Given the description of an element on the screen output the (x, y) to click on. 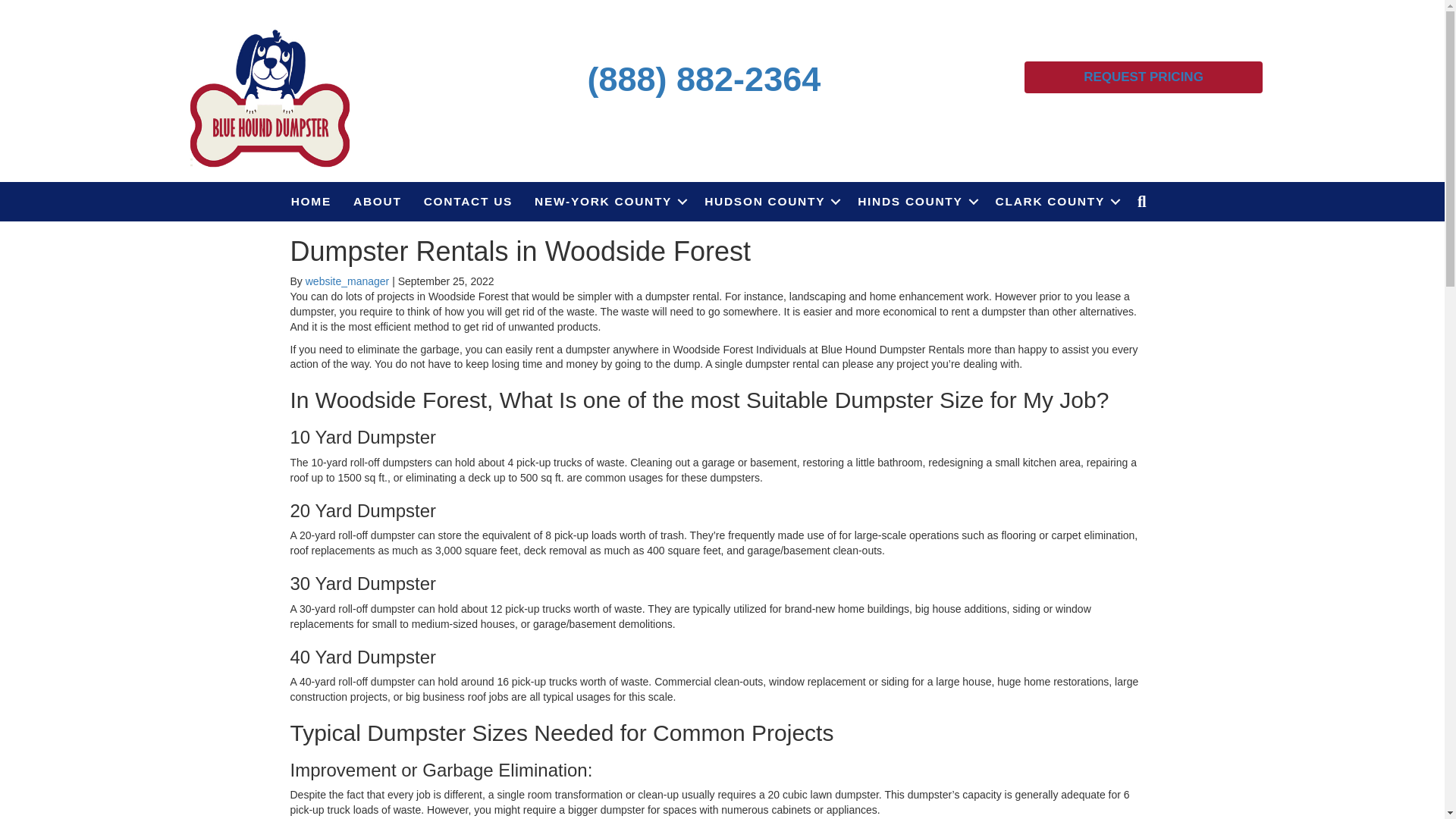
HUDSON COUNTY (769, 201)
HINDS COUNTY (915, 201)
ABOUT (377, 201)
CONTACT US (467, 201)
CLARK COUNTY (1055, 201)
HOME (311, 201)
REQUEST PRICING (1144, 77)
Skip to content (34, 6)
NEW-YORK COUNTY (608, 201)
bluehounddumpster (269, 96)
